Given the description of an element on the screen output the (x, y) to click on. 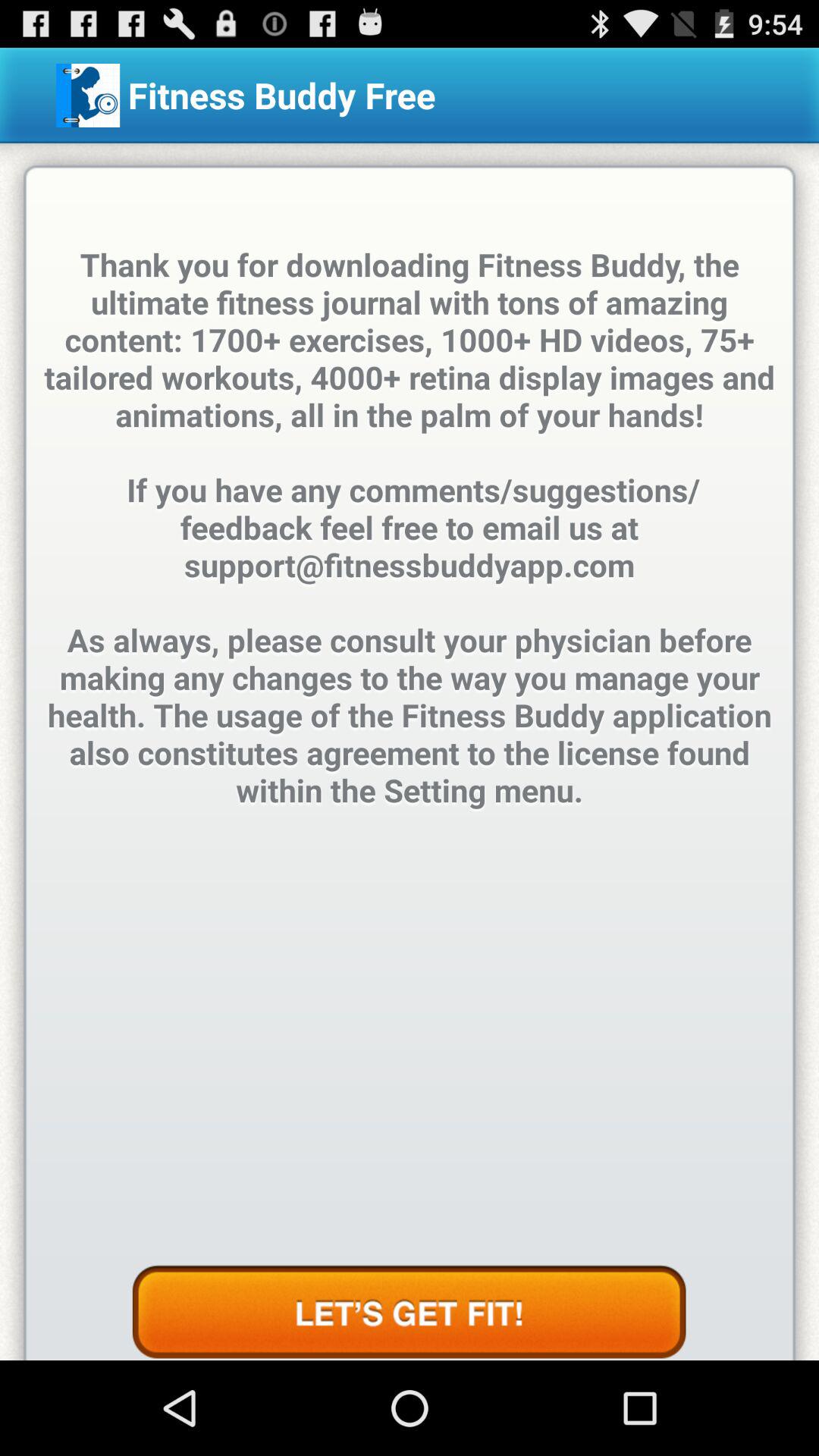
turn on the icon at the bottom (408, 1312)
